Given the description of an element on the screen output the (x, y) to click on. 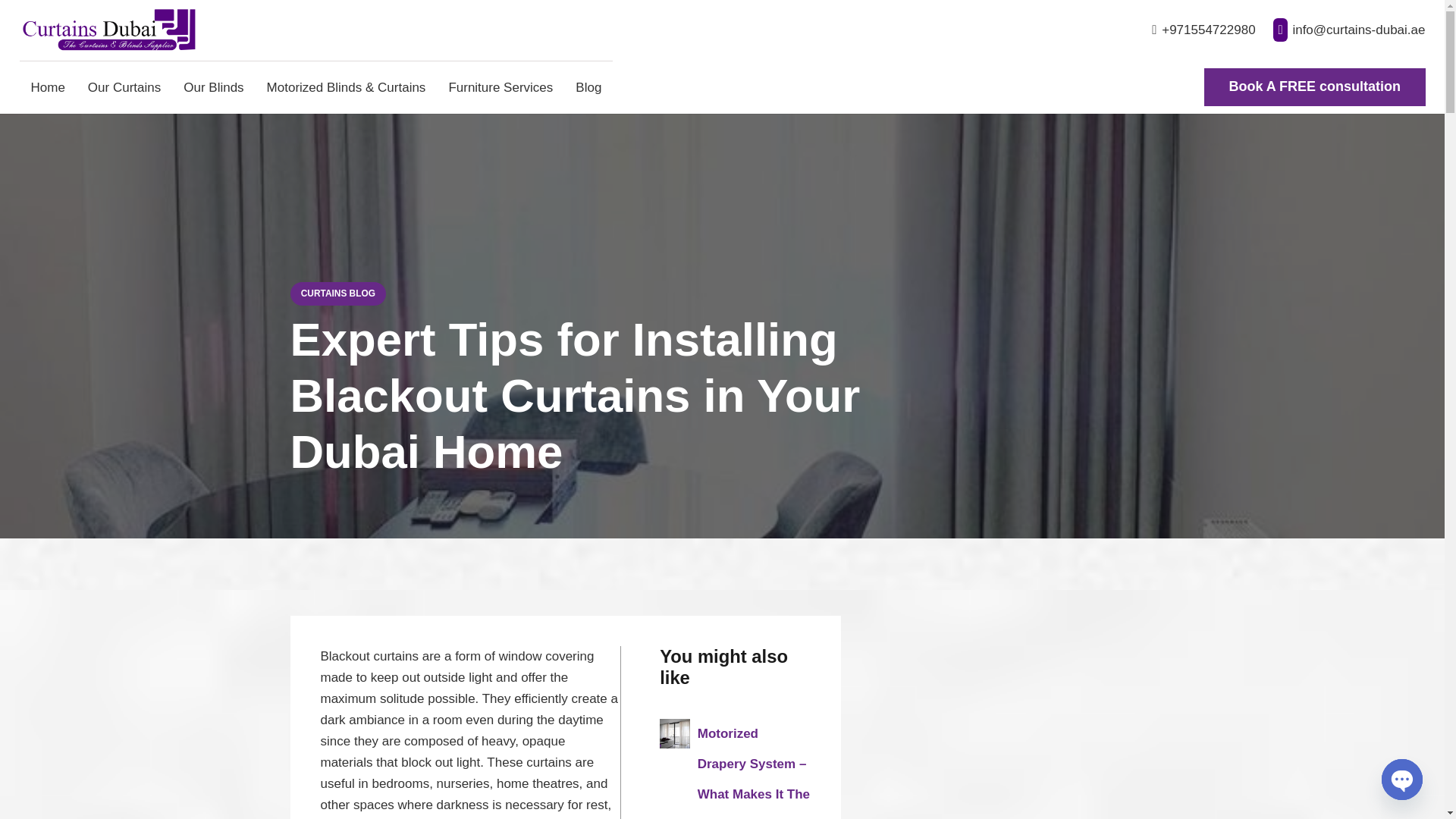
Our Curtains (124, 86)
Our Blinds (212, 86)
Home (48, 86)
Furniture Services (500, 86)
